Given the description of an element on the screen output the (x, y) to click on. 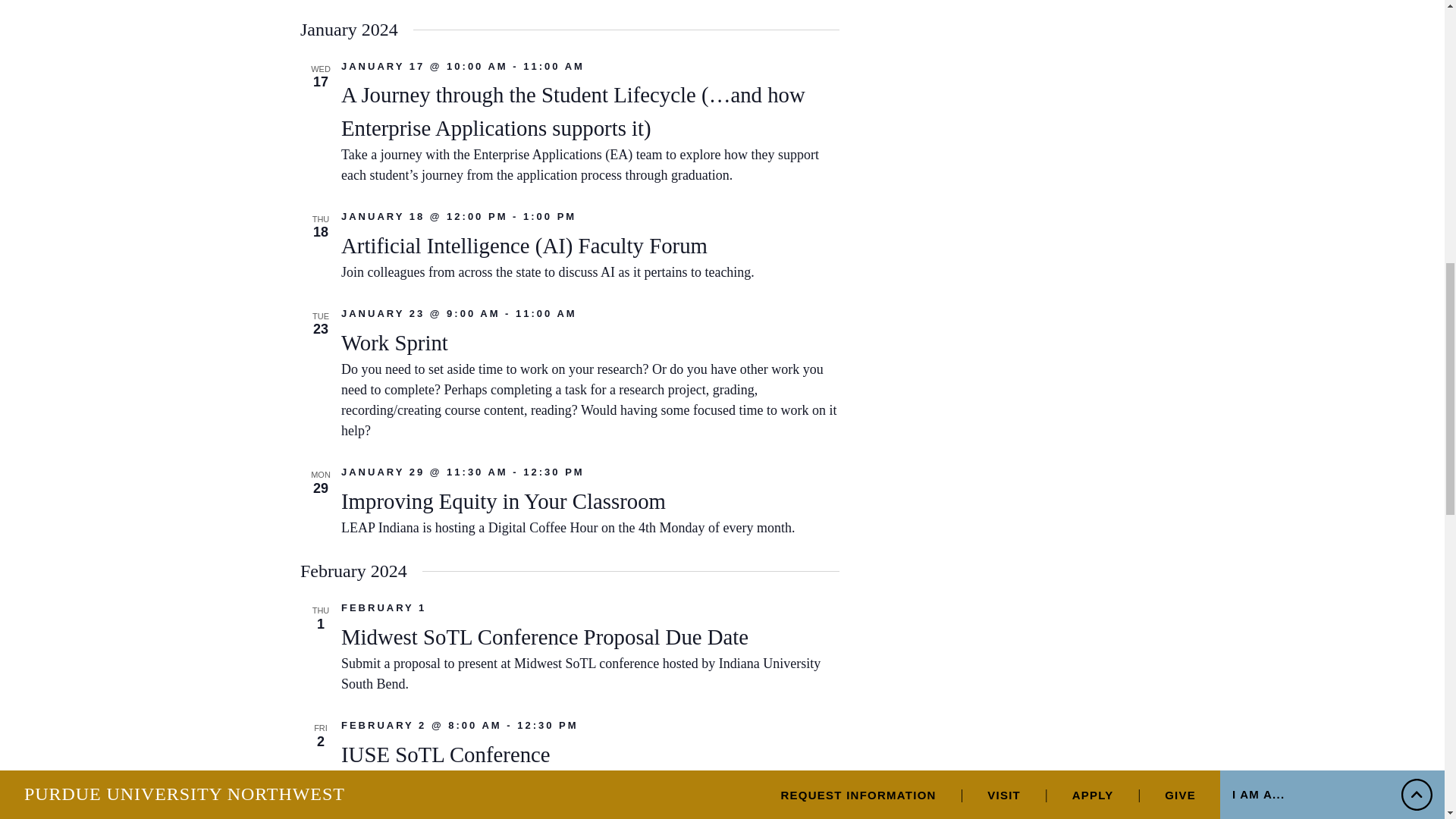
Midwest SoTL Conference Proposal Due Date (544, 637)
Improving Equity in Your Classroom (502, 501)
Work Sprint (394, 342)
IUSE SoTL Conference (445, 754)
